Given the description of an element on the screen output the (x, y) to click on. 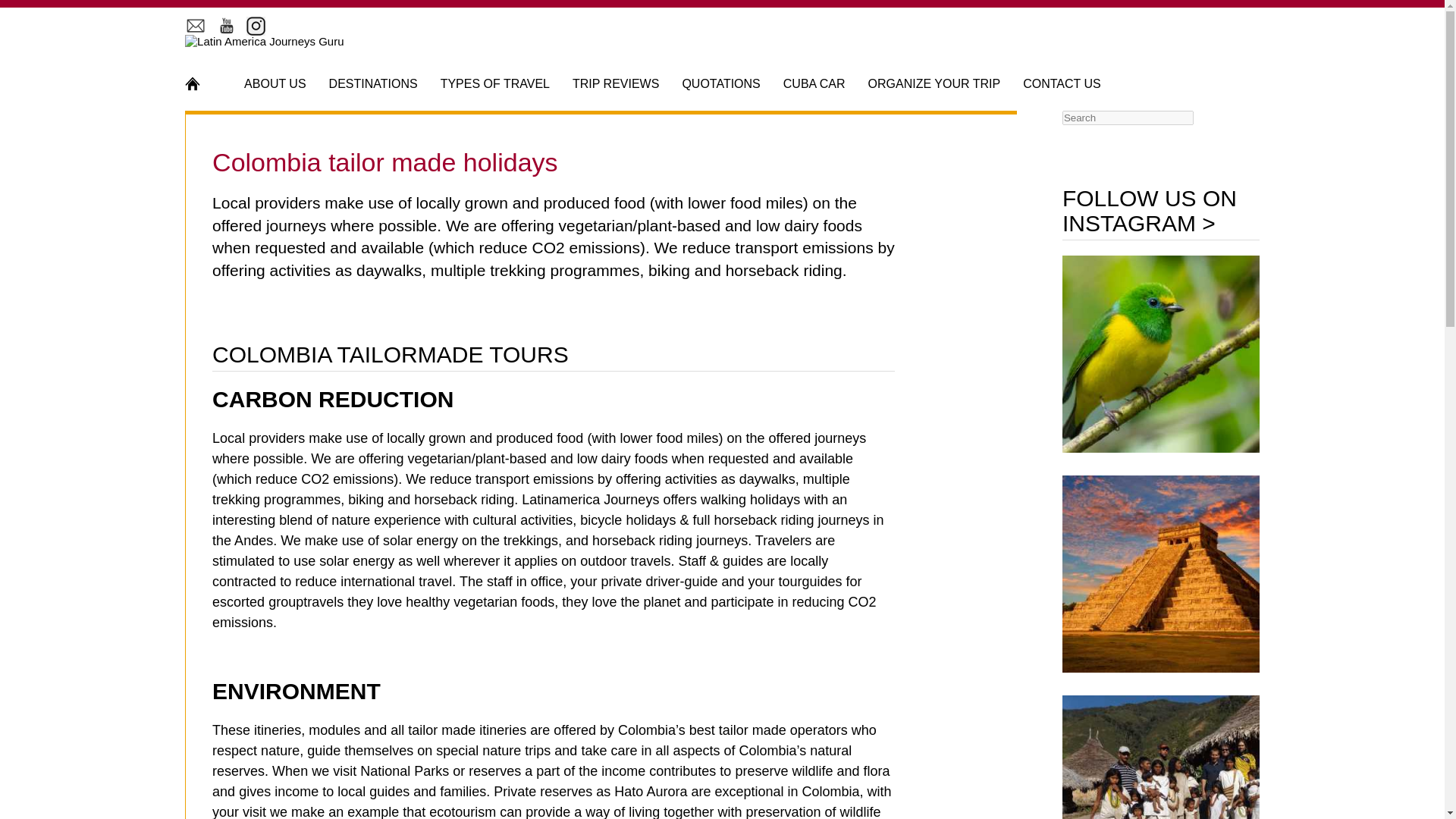
TRIP REVIEWS (615, 83)
CONTACT US (1061, 83)
TYPES OF TRAVEL (495, 83)
DESTINATIONS (373, 83)
QUOTATIONS (720, 83)
ABOUT US (274, 83)
ORGANIZE YOUR TRIP (934, 83)
CUBA CAR (814, 83)
HOME (202, 83)
